Given the description of an element on the screen output the (x, y) to click on. 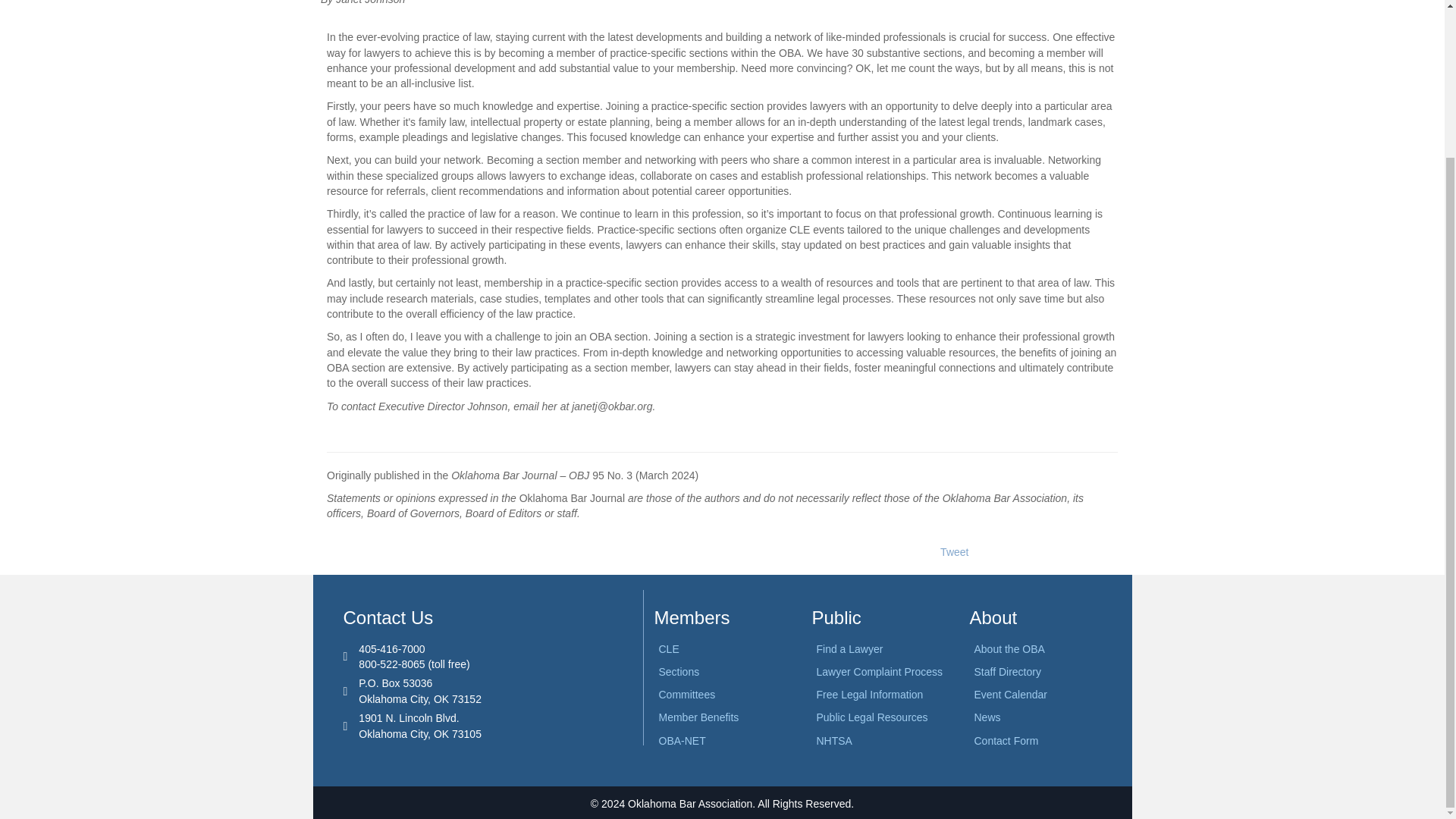
About the OBA (1008, 648)
Member Benefits (698, 717)
Committees (686, 694)
Contact Form (1006, 740)
Event Calendar (1010, 694)
Staff Directory (1007, 671)
OBA-NET (681, 740)
CLE (668, 648)
Find a Lawyer (848, 648)
Lawyer Complaint Process (878, 671)
Free Legal Information (869, 694)
Public Legal Resources (871, 717)
Tweet (954, 551)
News (987, 717)
NHTSA (833, 740)
